Given the description of an element on the screen output the (x, y) to click on. 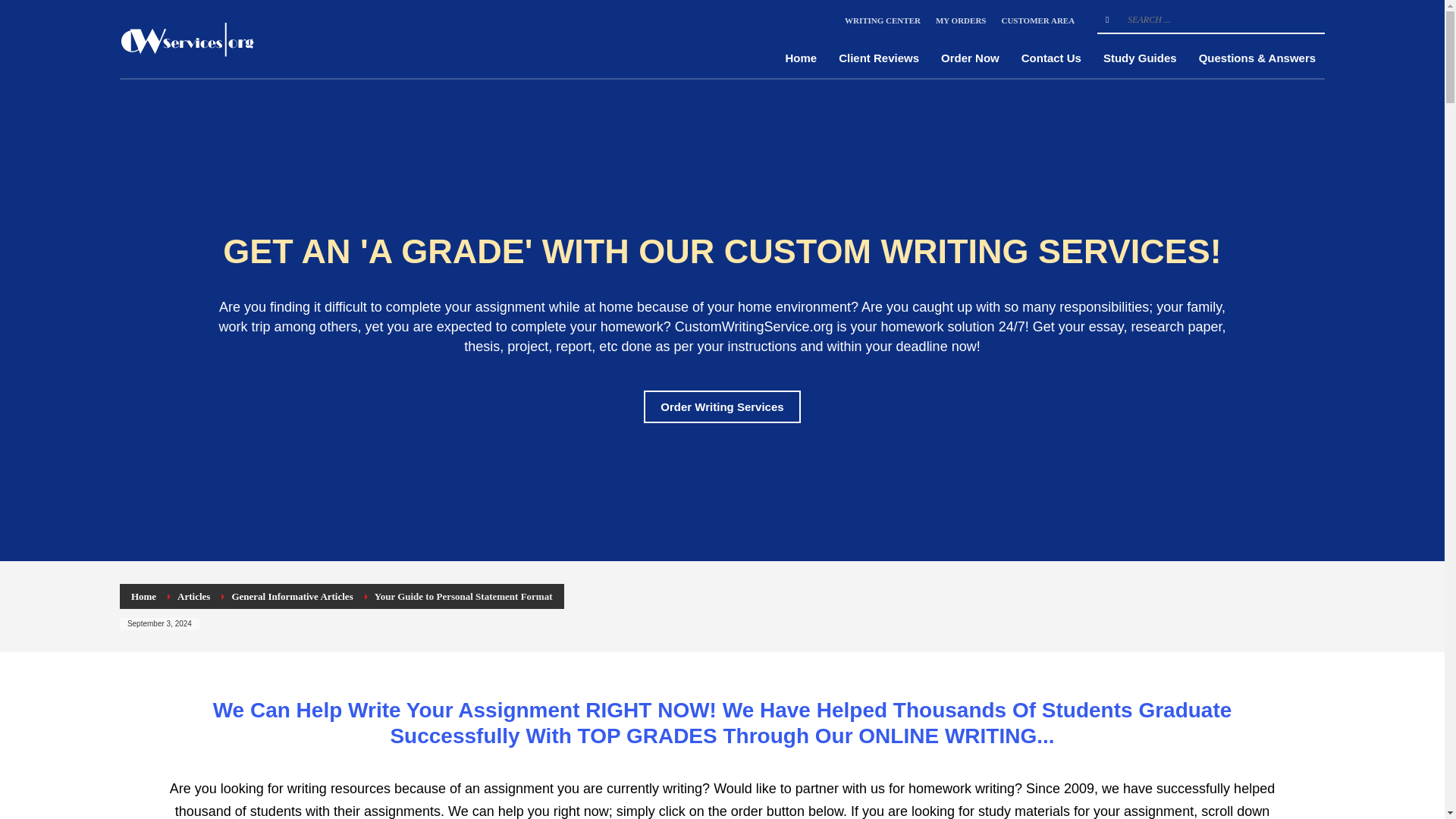
Articles (193, 595)
Study Guides (1140, 57)
WRITING CENTER (882, 20)
Articles (193, 595)
Home (801, 57)
go (1107, 19)
Contact Us (1050, 57)
General Informative Articles (291, 595)
Home (143, 595)
Client Reviews (878, 57)
